Given the description of an element on the screen output the (x, y) to click on. 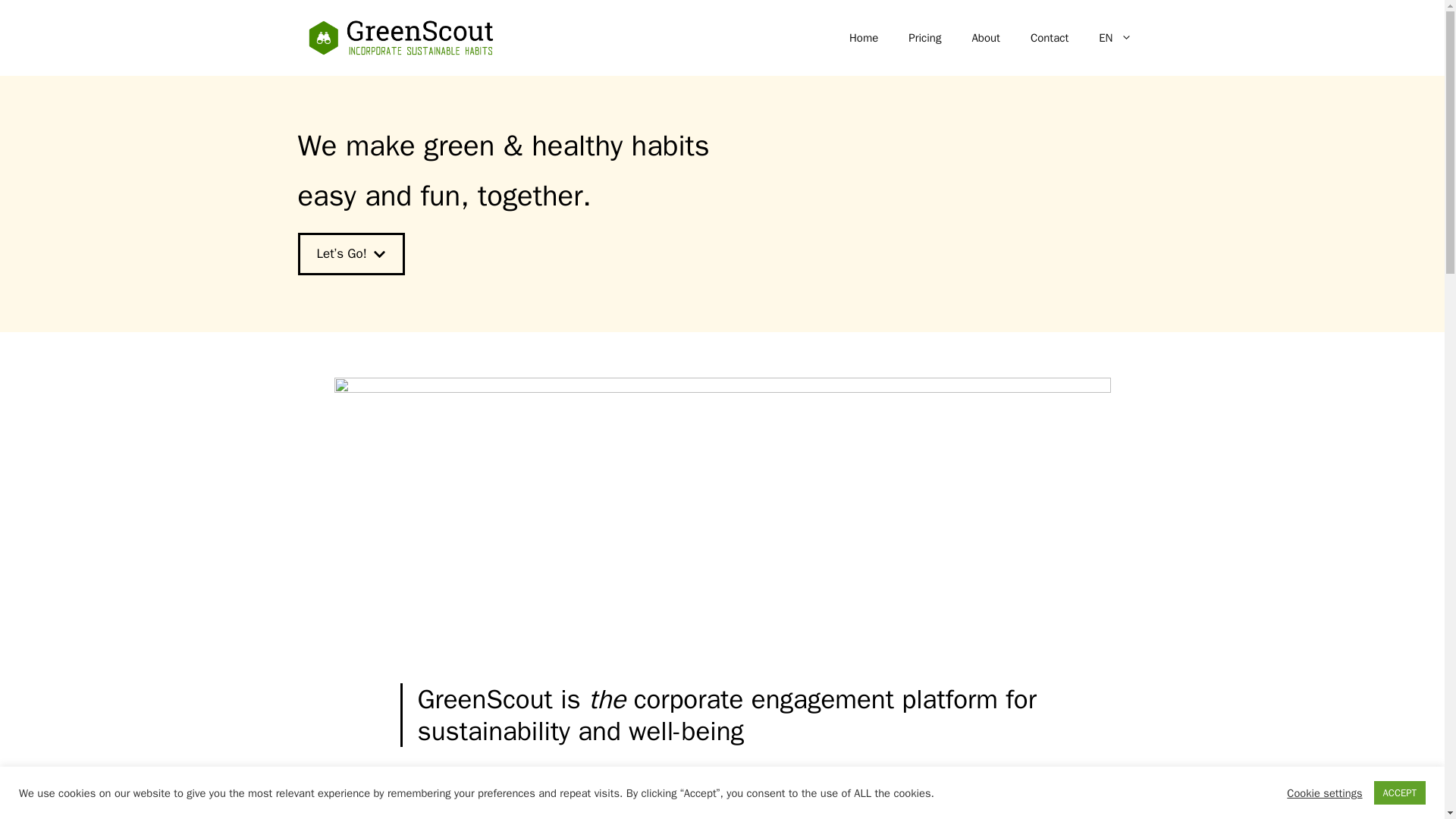
Contact (1048, 37)
Home (863, 37)
EN (1115, 37)
About (985, 37)
Cookie settings (1324, 792)
ACCEPT (1399, 792)
Pricing (924, 37)
